Given the description of an element on the screen output the (x, y) to click on. 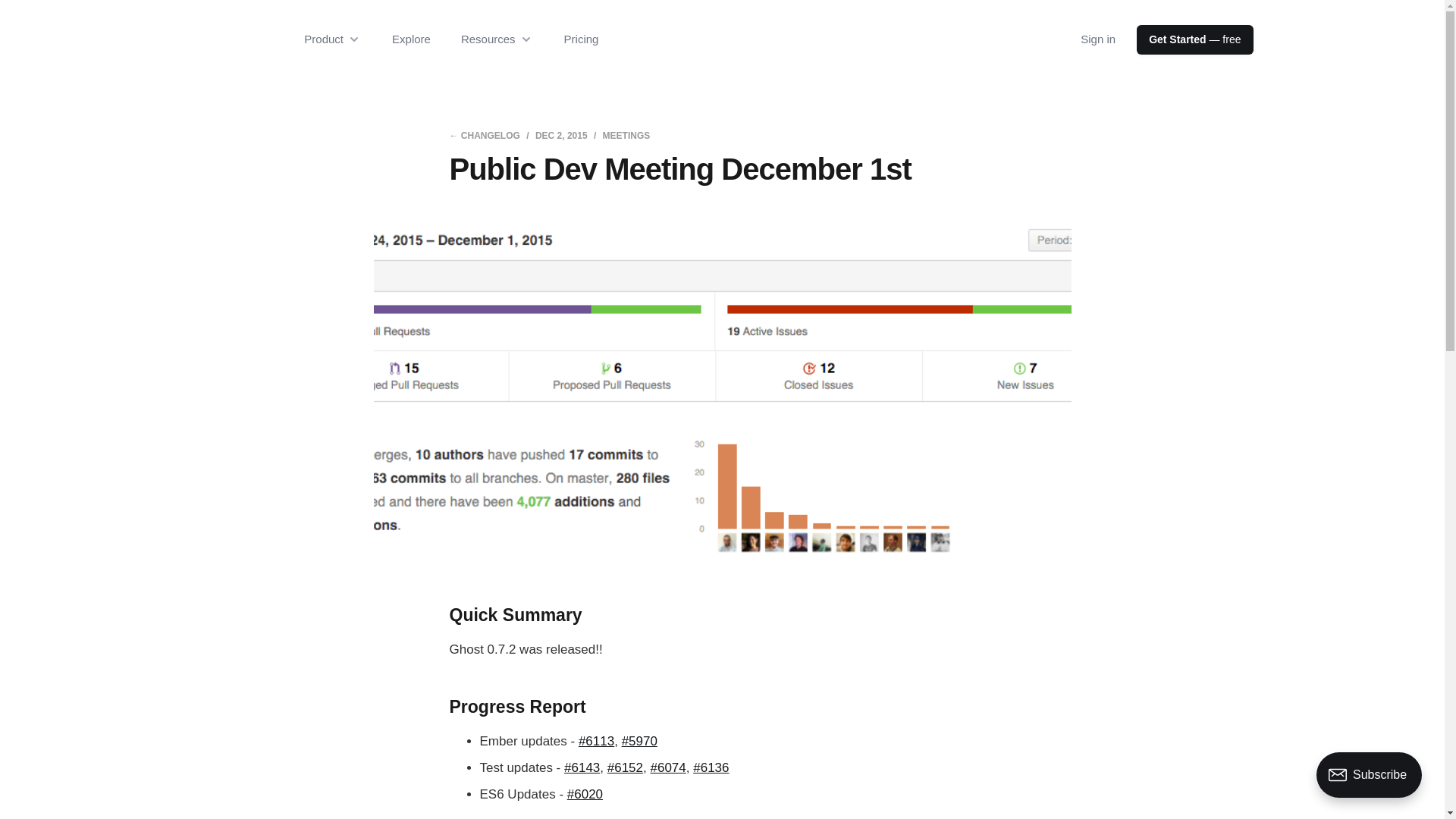
Resources (497, 38)
Pricing (581, 39)
Sign in (1097, 39)
Product (332, 38)
Explore (410, 39)
